Given the description of an element on the screen output the (x, y) to click on. 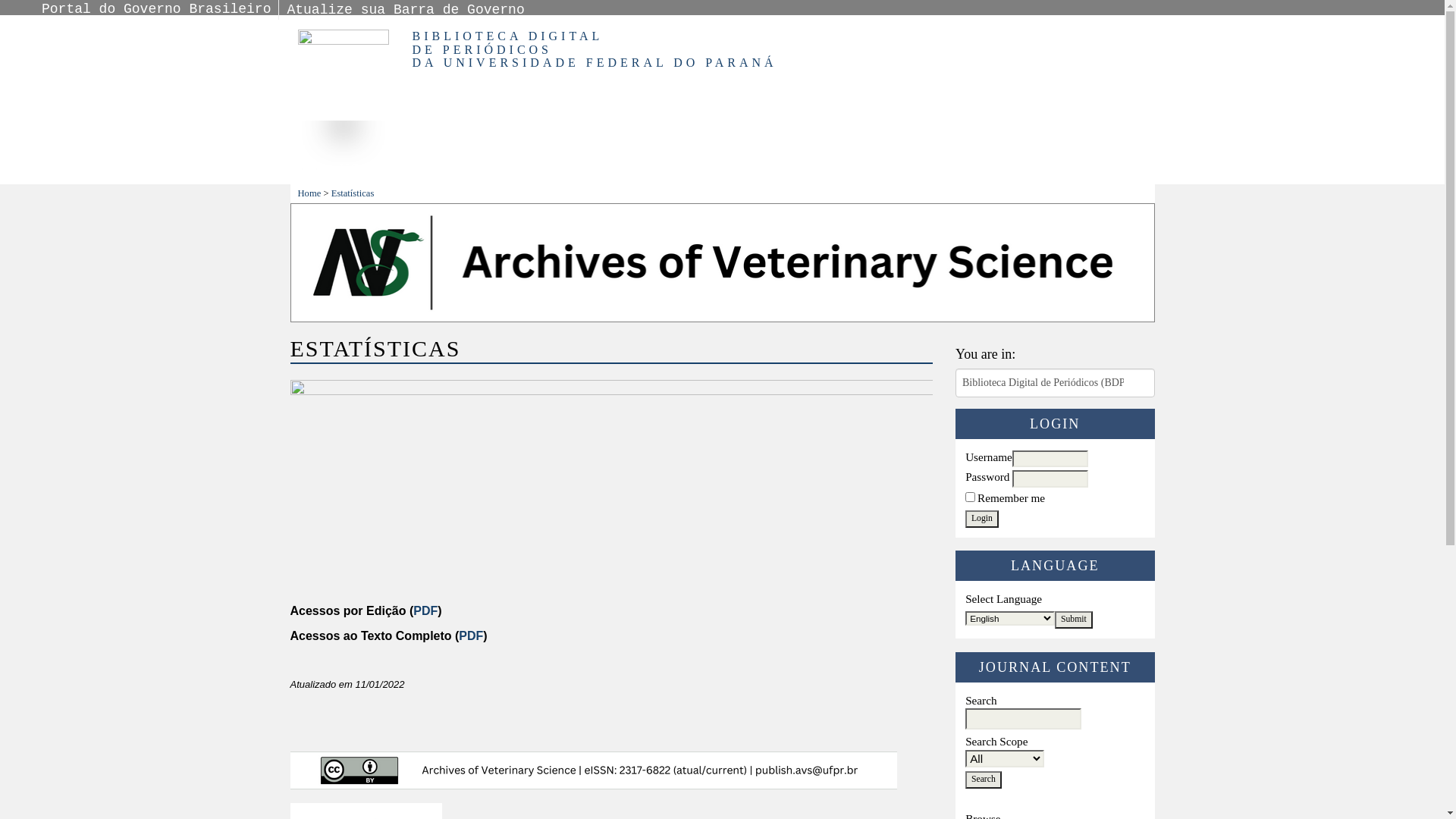
PDF Element type: text (470, 635)
ACCESS Element type: text (530, 168)
ISSUES Element type: text (704, 168)
PDF Element type: text (425, 610)
Login Element type: text (981, 518)
HOME Element type: text (373, 168)
ABOUT Element type: text (446, 168)
Home Element type: text (308, 193)
CCBY Element type: hover (592, 770)
Portal do Governo Brasileiro Element type: text (155, 8)
ANNOUNCEMENTS Element type: text (830, 168)
Atualize sua Barra de Governo Element type: text (405, 9)
Search Element type: text (983, 779)
Submit Element type: text (1073, 619)
SEARCH Element type: text (619, 168)
STATISTICS Element type: text (968, 168)
